Given the description of an element on the screen output the (x, y) to click on. 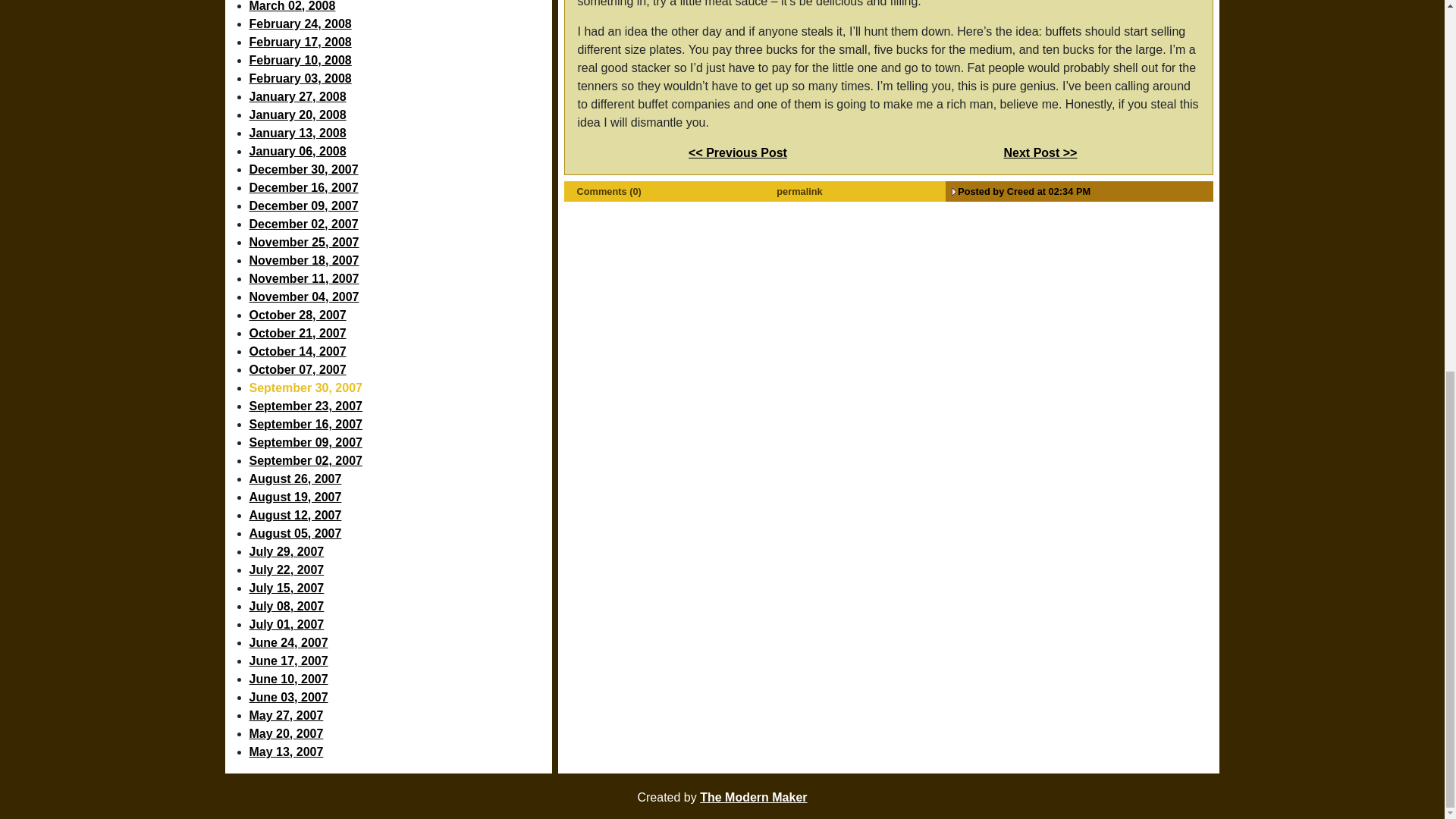
February 24, 2008 (399, 24)
February 03, 2008 (399, 78)
December 16, 2007 (399, 188)
January 06, 2008 (399, 151)
February 17, 2008 (399, 42)
March 02, 2008 (399, 7)
February 10, 2008 (399, 60)
December 09, 2007 (399, 206)
January 13, 2008 (399, 133)
January 27, 2008 (399, 96)
January 20, 2008 (399, 115)
December 30, 2007 (399, 169)
